Given the description of an element on the screen output the (x, y) to click on. 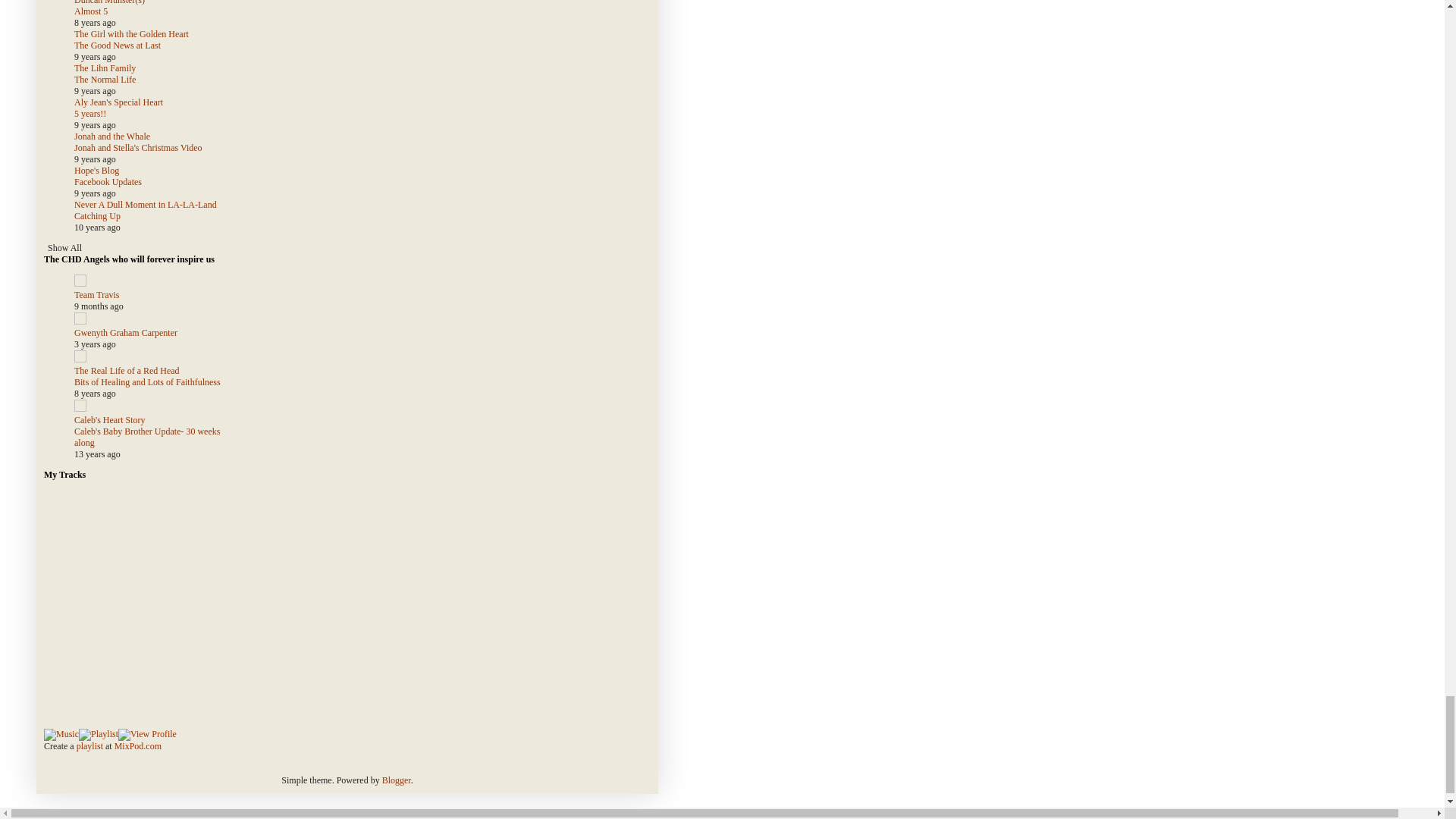
View all my playlists! (146, 734)
Get Music Tracks! (60, 734)
Create Your Free Playlist! (97, 734)
